Given the description of an element on the screen output the (x, y) to click on. 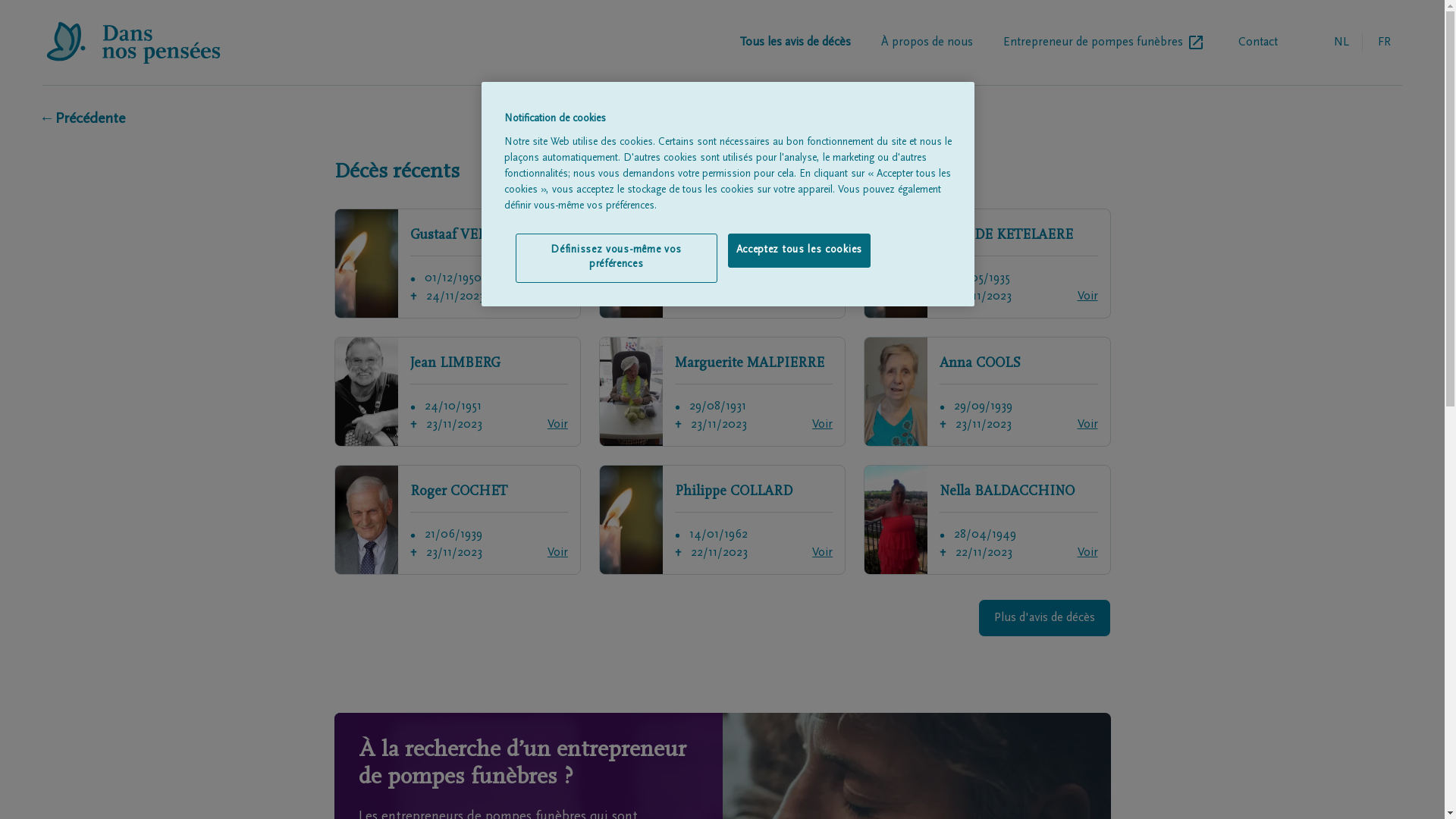
Contact Element type: text (1257, 42)
logo Element type: hover (133, 42)
Jacqueline GOUTIERE
09/11/1932
23/11/2023
Voir Element type: text (722, 263)
Philippe COLLARD
14/01/1962
22/11/2023
Voir Element type: text (722, 519)
Roger COCHET
21/06/1939
23/11/2023
Voir Element type: text (456, 519)
Anna COOLS
29/09/1939
23/11/2023
Voir Element type: text (986, 391)
NL Element type: text (1341, 42)
Acceptez tous les cookies Element type: text (799, 250)
Willy DE KETELAERE
23/05/1935
23/11/2023
Voir Element type: text (986, 263)
Jean LIMBERG
24/10/1951
23/11/2023
Voir Element type: text (456, 391)
Nella BALDACCHINO
28/04/1949
22/11/2023
Voir Element type: text (986, 519)
FR Element type: text (1383, 42)
Gustaaf VERREPT
01/12/1950
24/11/2023
Voir Element type: text (456, 263)
Marguerite MALPIERRE
29/08/1931
23/11/2023
Voir Element type: text (722, 391)
